Given the description of an element on the screen output the (x, y) to click on. 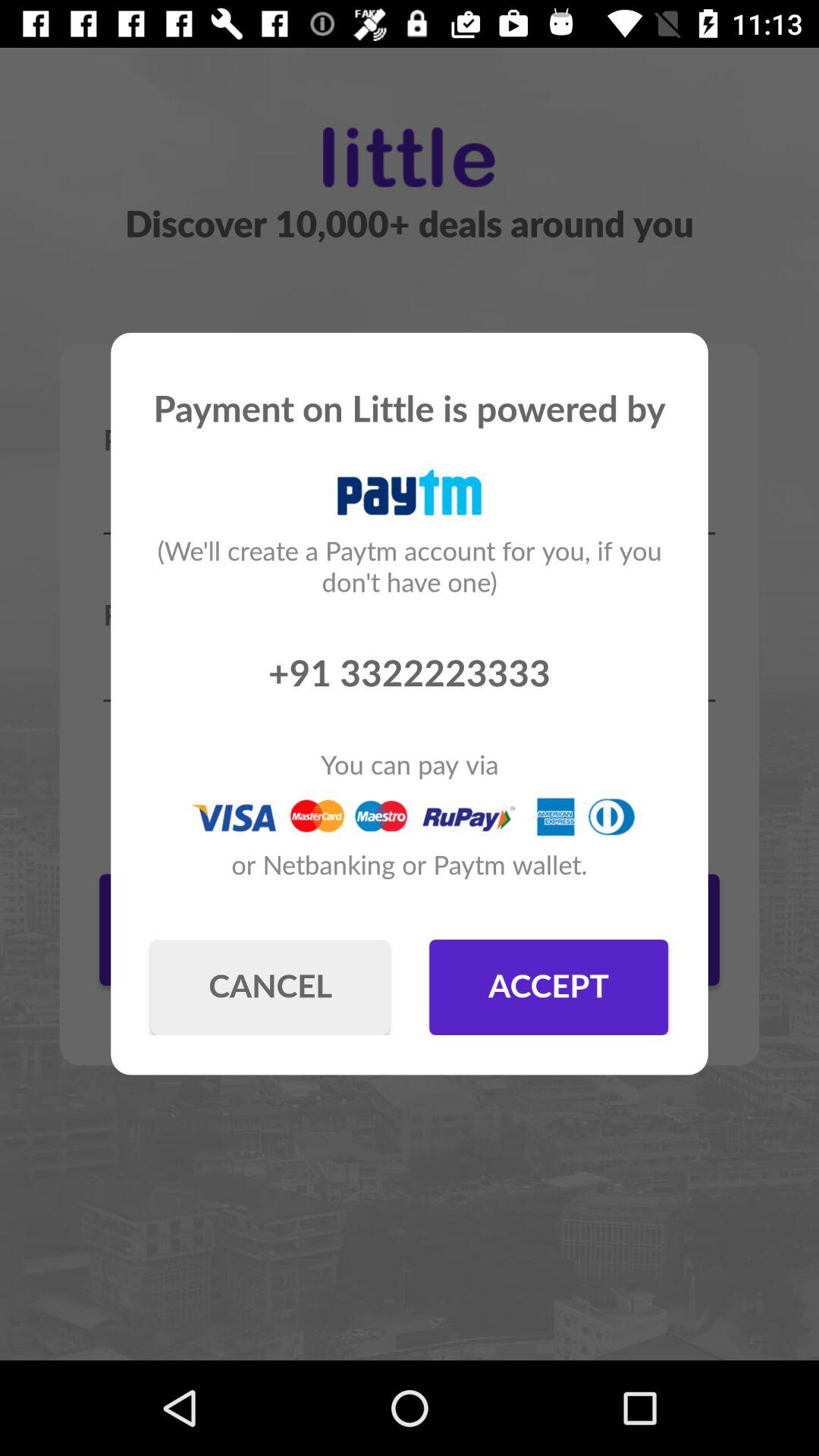
select the icon to the left of the accept icon (269, 987)
